Given the description of an element on the screen output the (x, y) to click on. 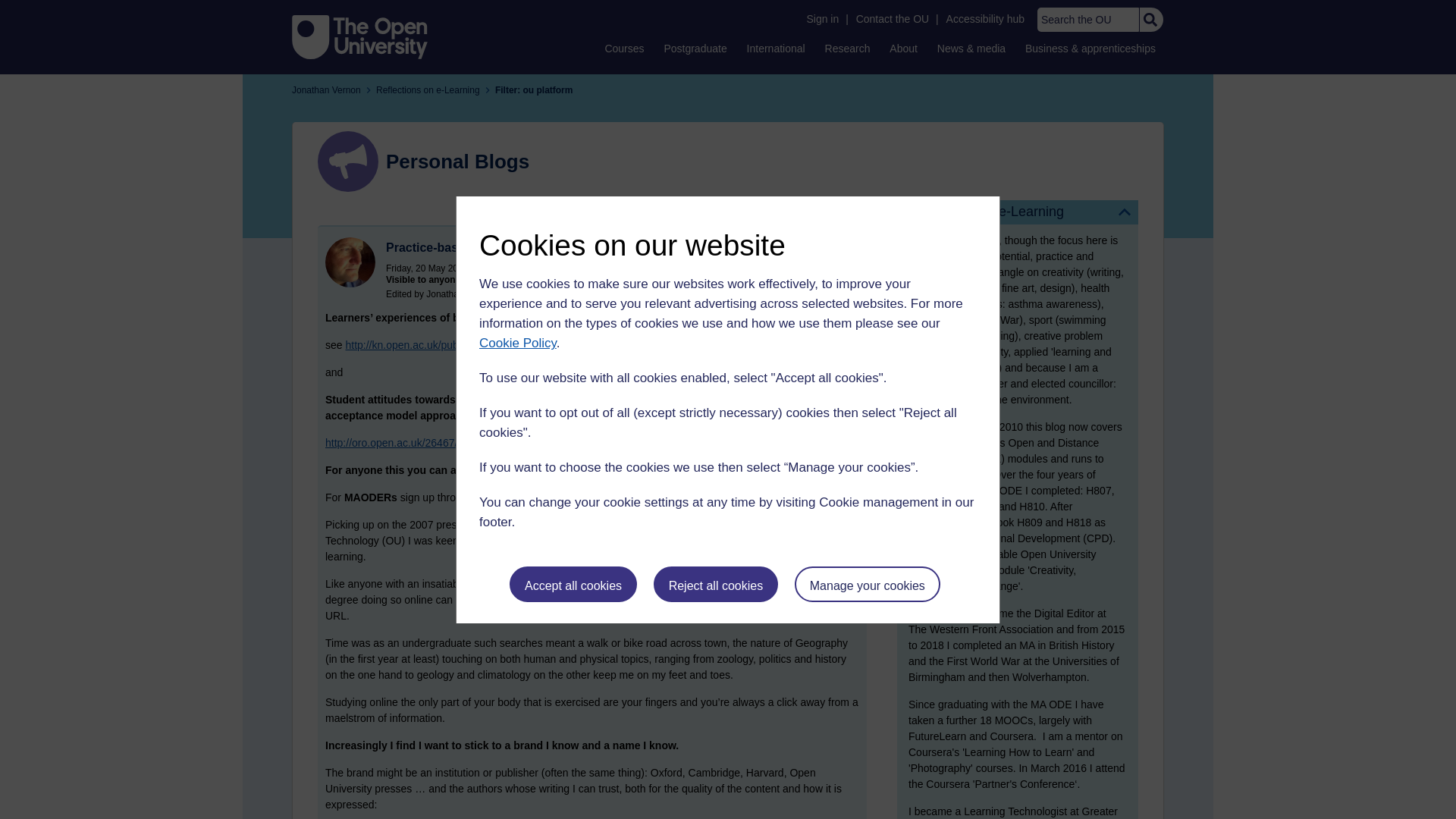
Manage your cookies (867, 583)
Postgraduate (695, 48)
Sign in (822, 19)
Reject all cookies (715, 583)
Cookie Policy (517, 342)
Reflections on e-Learning (1017, 211)
Courses (623, 48)
Accept all cookies (573, 583)
The Open University (360, 36)
Accessibility hub (985, 19)
